Given the description of an element on the screen output the (x, y) to click on. 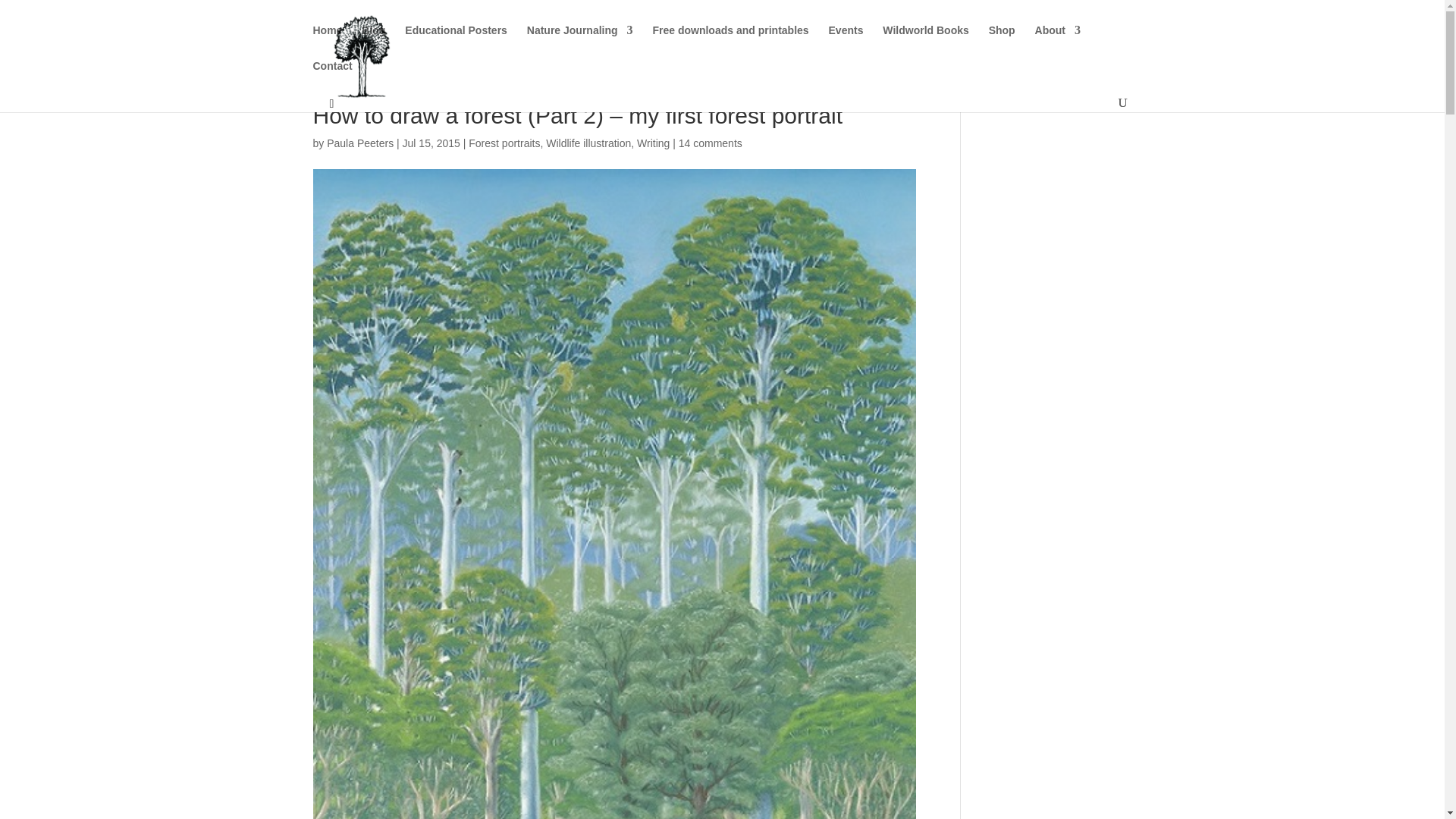
Educational Posters (455, 42)
14 comments (710, 143)
Wildlife illustration (588, 143)
Paula Peeters (359, 143)
Wildworld Books (925, 42)
Posts by Paula Peeters (359, 143)
Contact (332, 78)
Free downloads and printables (730, 42)
Nature Journaling (580, 42)
Events (845, 42)
Forest portraits (504, 143)
About (1057, 42)
Writing (653, 143)
